Given the description of an element on the screen output the (x, y) to click on. 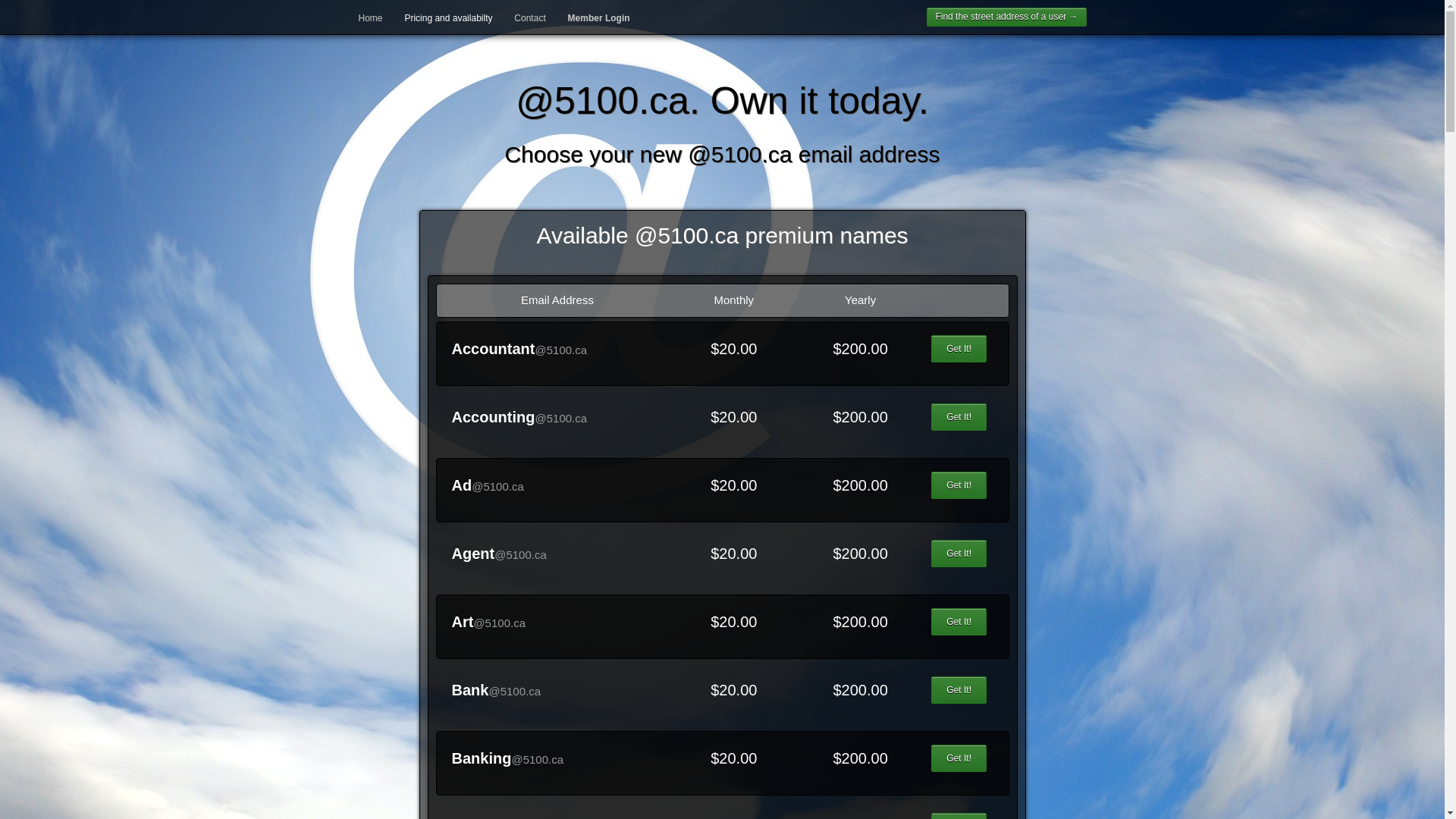
Member Login Element type: text (598, 17)
Get It! Element type: text (958, 757)
Agent@5100.ca Element type: text (498, 553)
Get It! Element type: text (958, 621)
Get It! Element type: text (958, 416)
Get It! Element type: text (958, 348)
Accounting@5100.ca Element type: text (519, 417)
Pricing and availabilty Element type: text (448, 17)
Ad@5100.ca Element type: text (487, 485)
Get It! Element type: text (958, 484)
Banking@5100.ca Element type: text (507, 758)
Get It! Element type: text (958, 689)
Art@5100.ca Element type: text (488, 621)
Contact Element type: text (529, 17)
Accountant@5100.ca Element type: text (519, 348)
Bank@5100.ca Element type: text (496, 690)
Get It! Element type: text (958, 553)
Home Element type: text (369, 17)
